Given the description of an element on the screen output the (x, y) to click on. 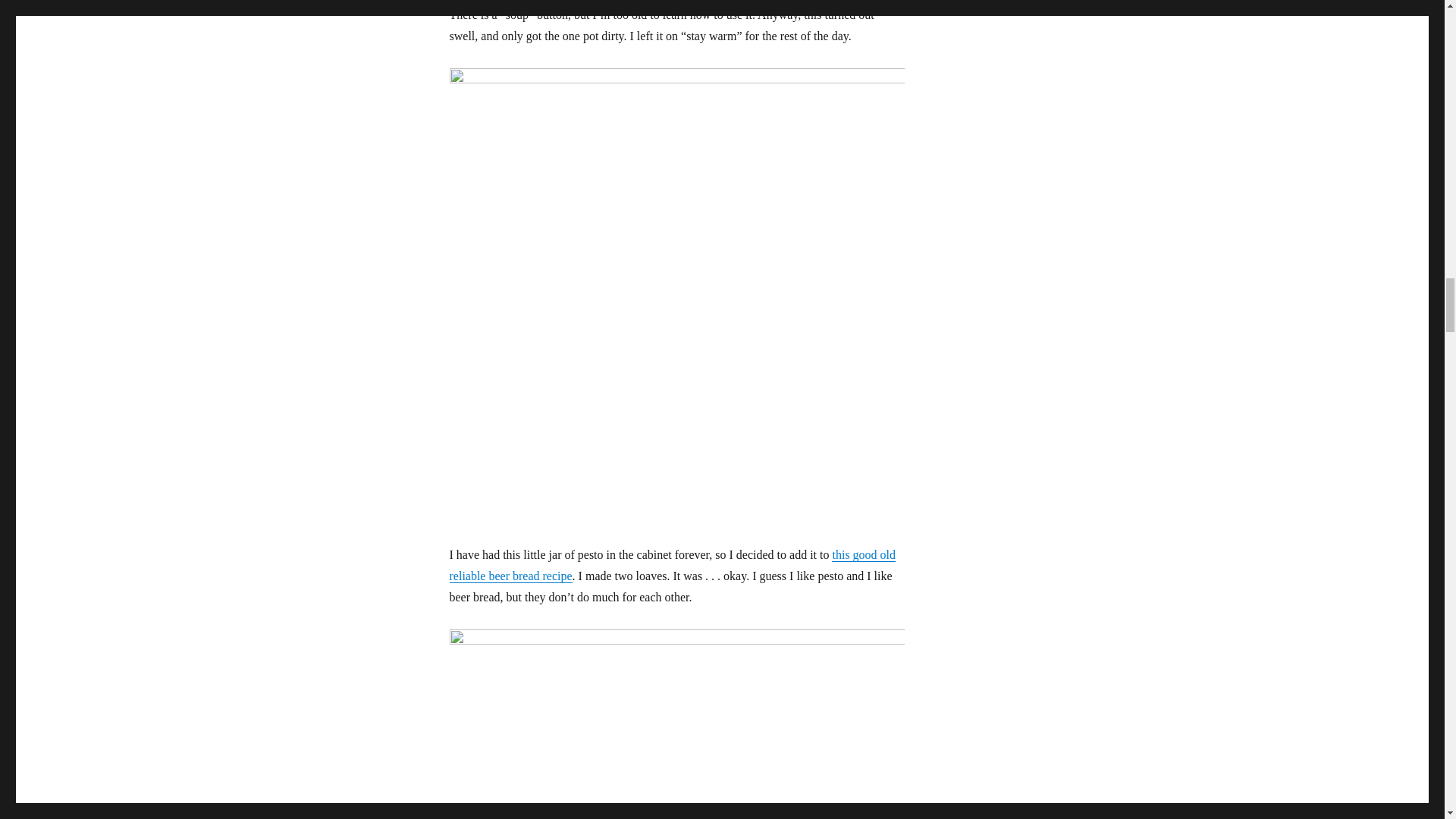
this good old reliable beer bread recipe (671, 564)
